Given the description of an element on the screen output the (x, y) to click on. 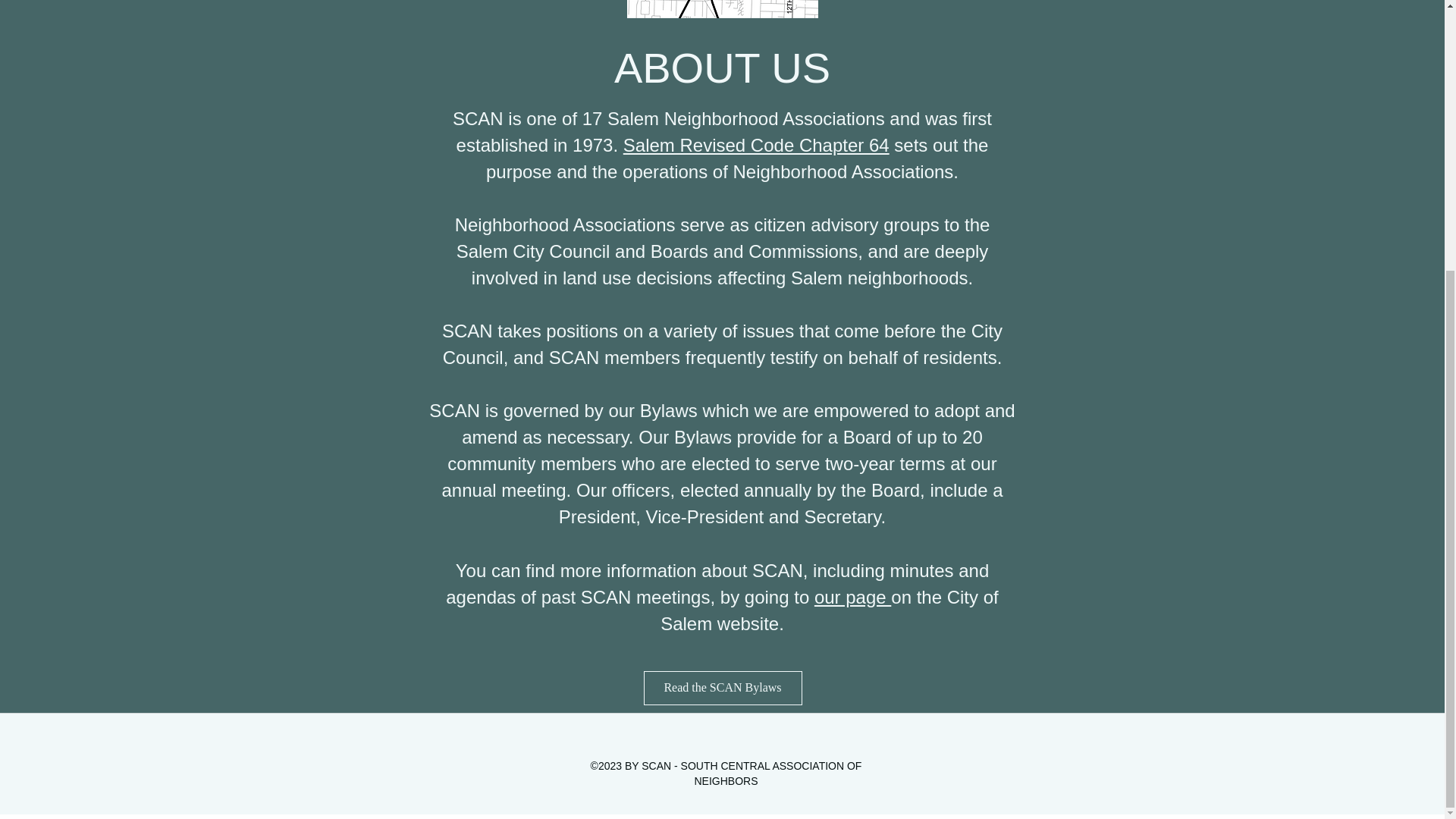
our page (852, 597)
Salem Revised Code Chapter 64 (756, 145)
Read the SCAN Bylaws (722, 687)
